Given the description of an element on the screen output the (x, y) to click on. 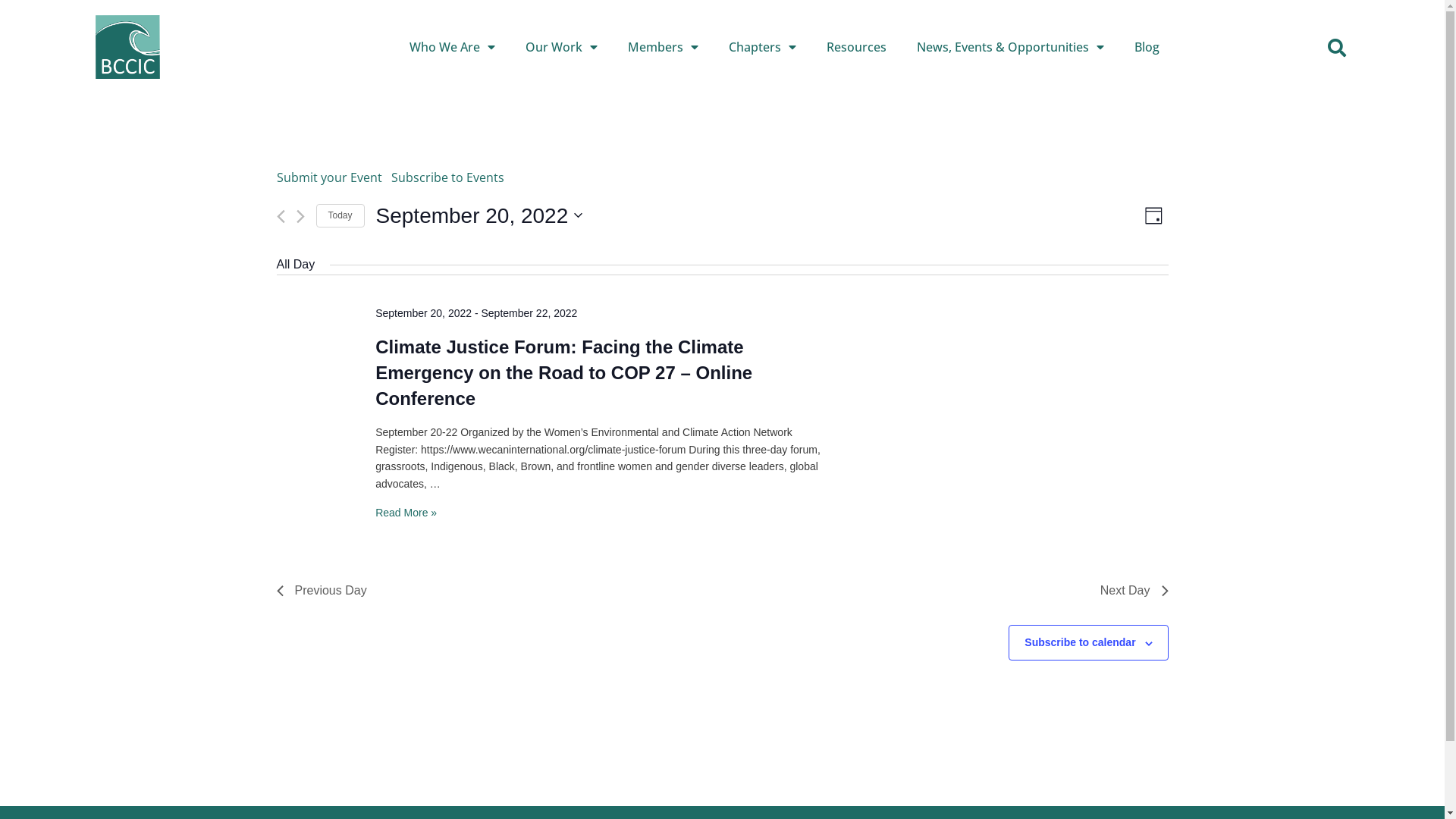
Chapters Element type: text (762, 46)
Our Work Element type: text (561, 46)
Next day Element type: hover (299, 216)
Subscribe to Events Element type: text (447, 177)
Members Element type: text (662, 46)
Day Element type: text (1153, 215)
Next Day Element type: text (1134, 590)
Subscribe to calendar Element type: text (1079, 642)
Submit your Event Element type: text (328, 177)
Today Element type: text (339, 215)
Previous day Element type: hover (280, 216)
September 20, 2022 Element type: text (479, 215)
Resources Element type: text (856, 46)
Blog Element type: text (1146, 46)
News, Events & Opportunities Element type: text (1010, 46)
Who We Are Element type: text (452, 46)
Previous Day Element type: text (321, 590)
